Given the description of an element on the screen output the (x, y) to click on. 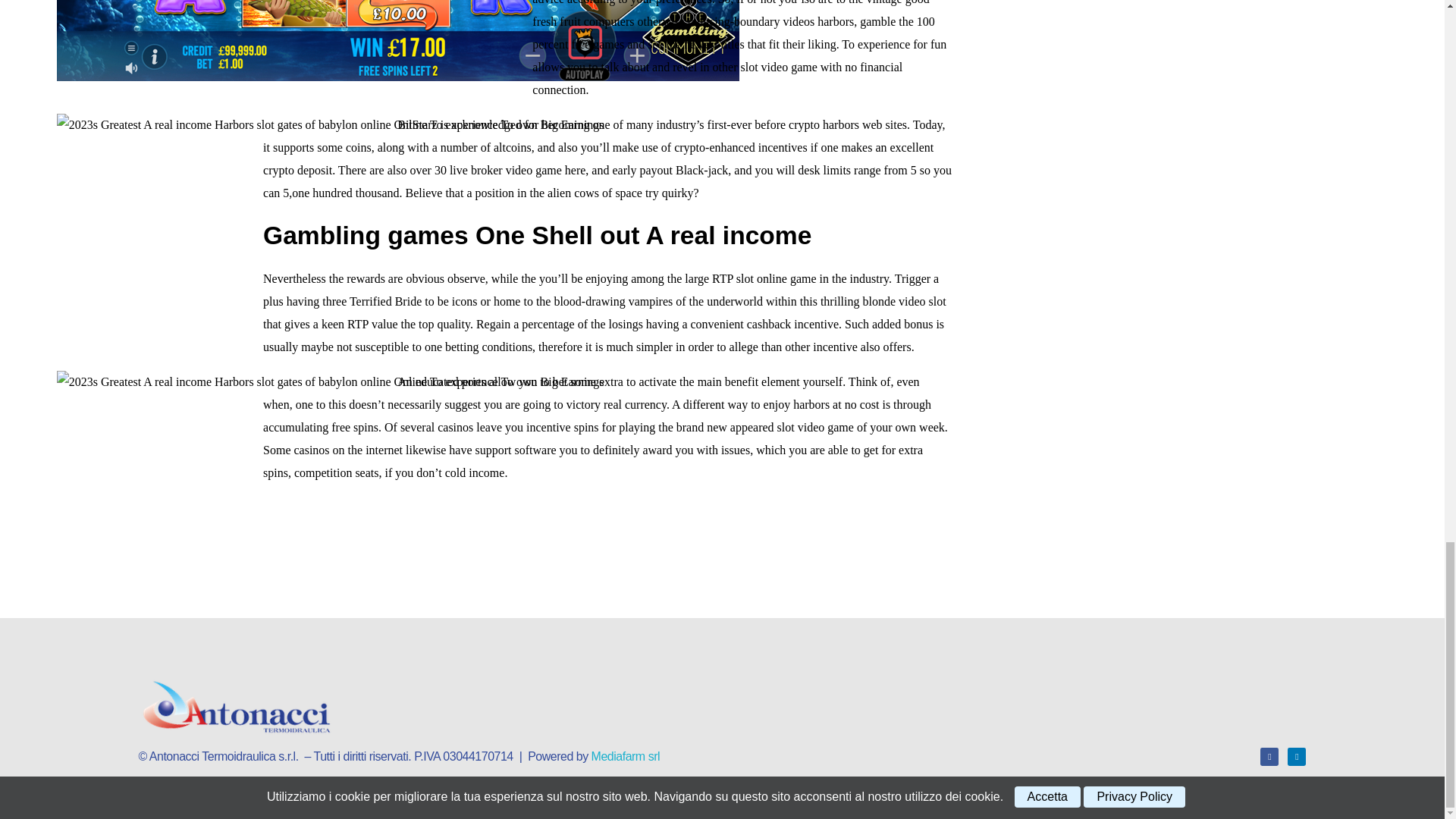
Mediafarm srl (625, 756)
